Given the description of an element on the screen output the (x, y) to click on. 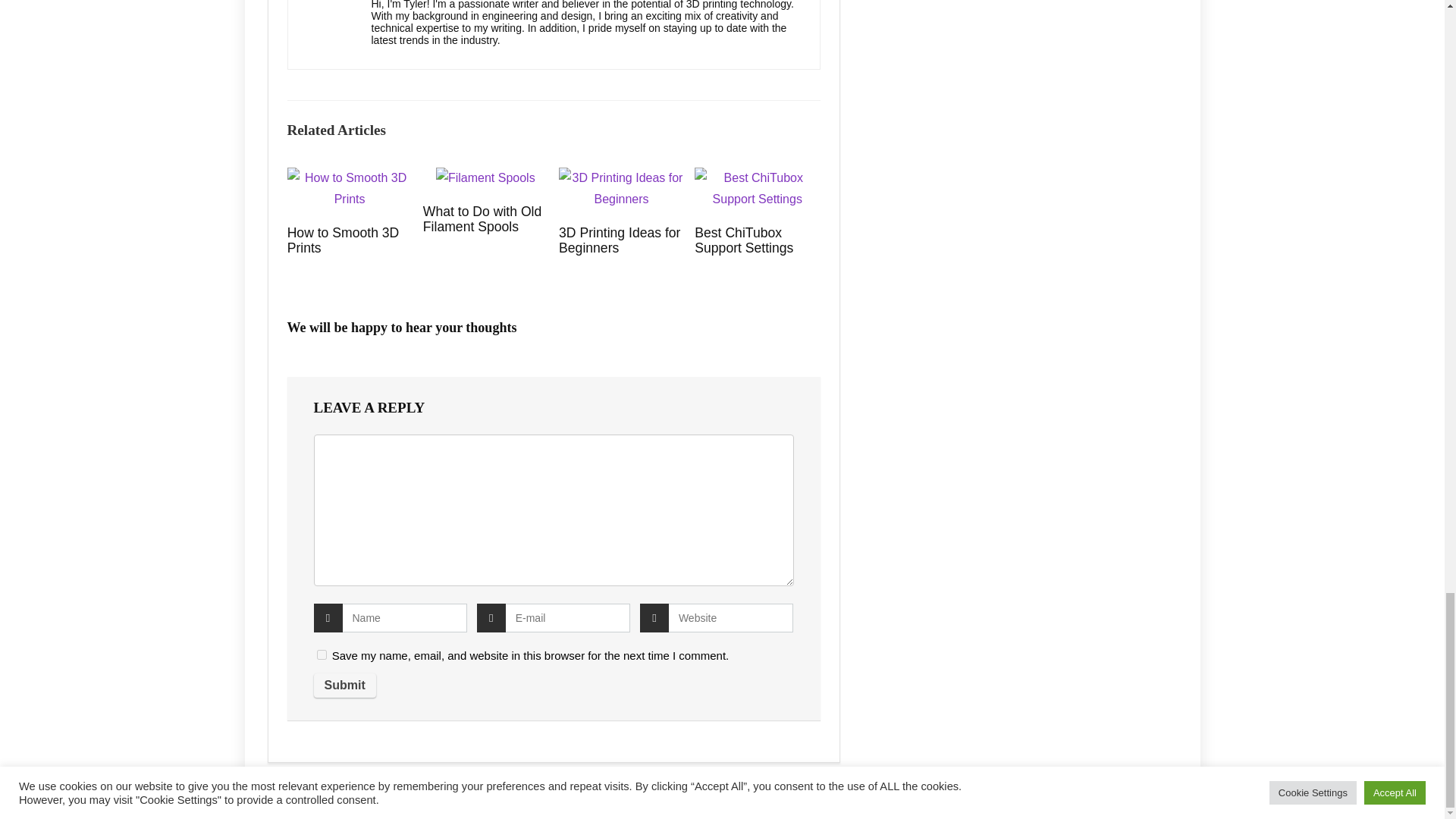
What to Do with Old Filament Spools (482, 218)
3D Printing Ideas for Beginners (619, 240)
How to Smooth 3D Prints (342, 240)
Submit (344, 685)
yes (321, 655)
Best ChiTubox Support Settings (743, 240)
Submit (344, 685)
